Given the description of an element on the screen output the (x, y) to click on. 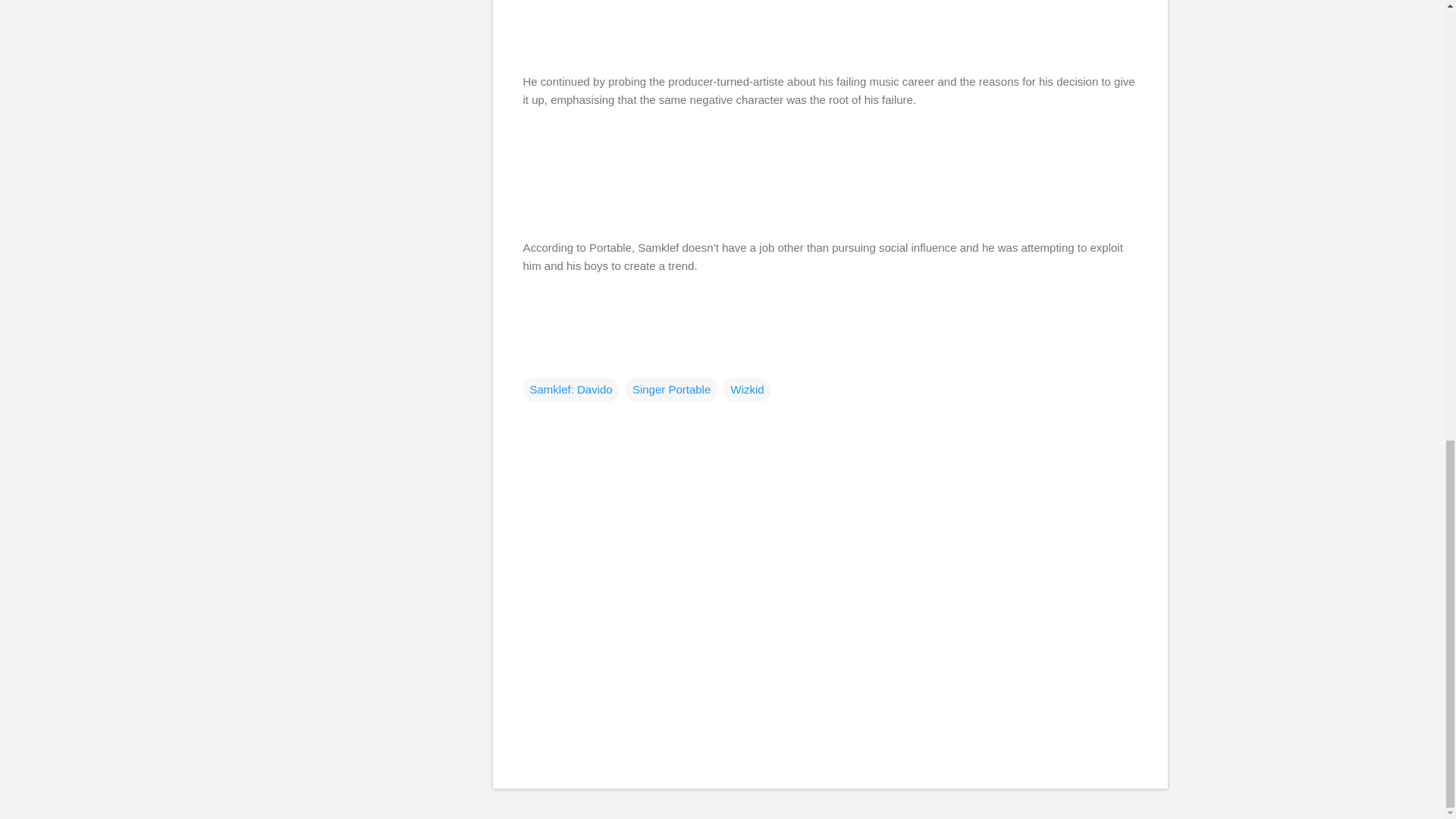
Samklef: Davido (571, 388)
Wizkid (746, 388)
Singer Portable (671, 388)
